Given the description of an element on the screen output the (x, y) to click on. 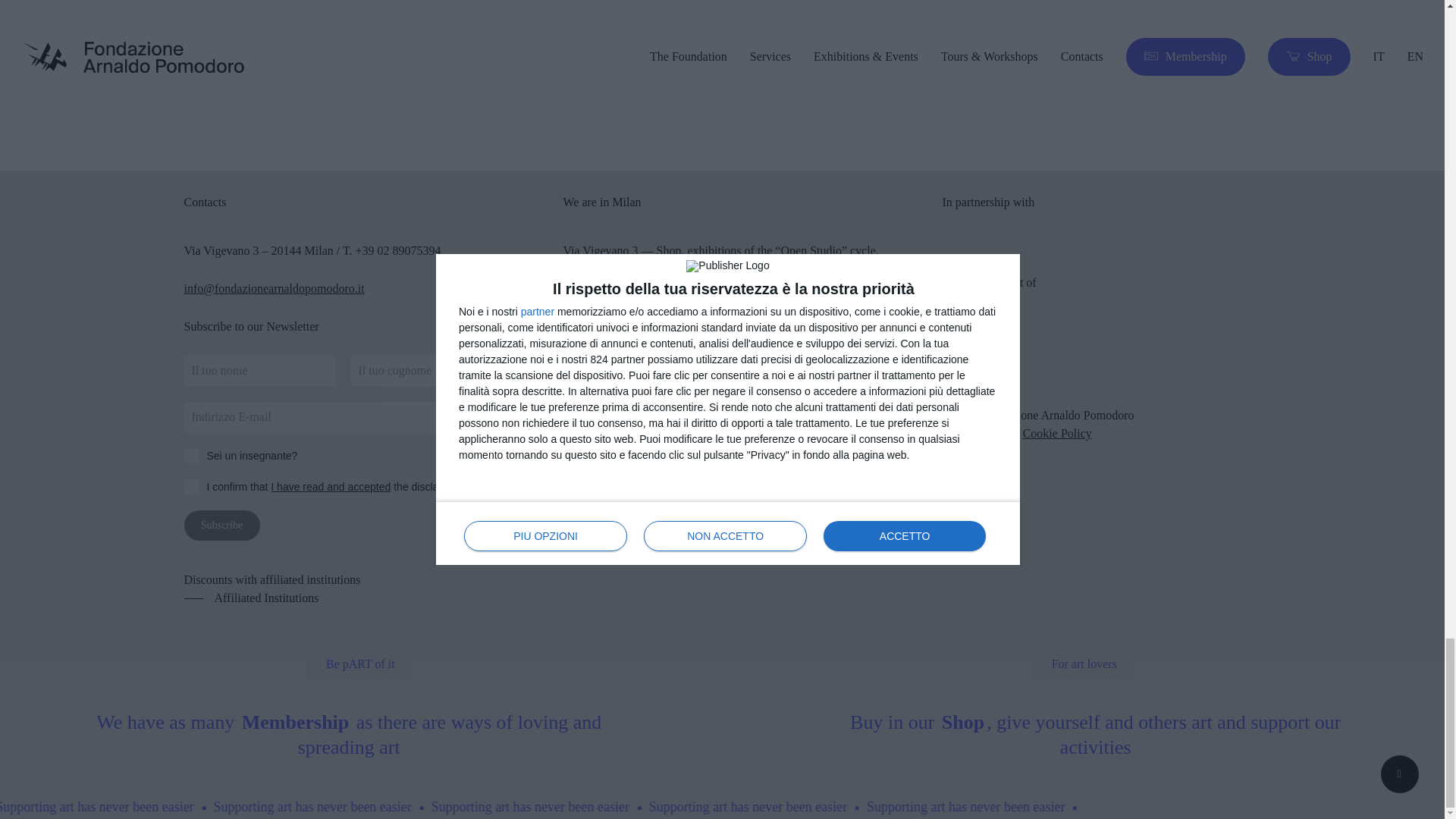
Instagram (644, 392)
Twitter (694, 392)
Facebook (586, 392)
I have read and accepted (330, 486)
Subscribe (221, 525)
Affiliated Institutions (250, 597)
YouTube (742, 392)
